Given the description of an element on the screen output the (x, y) to click on. 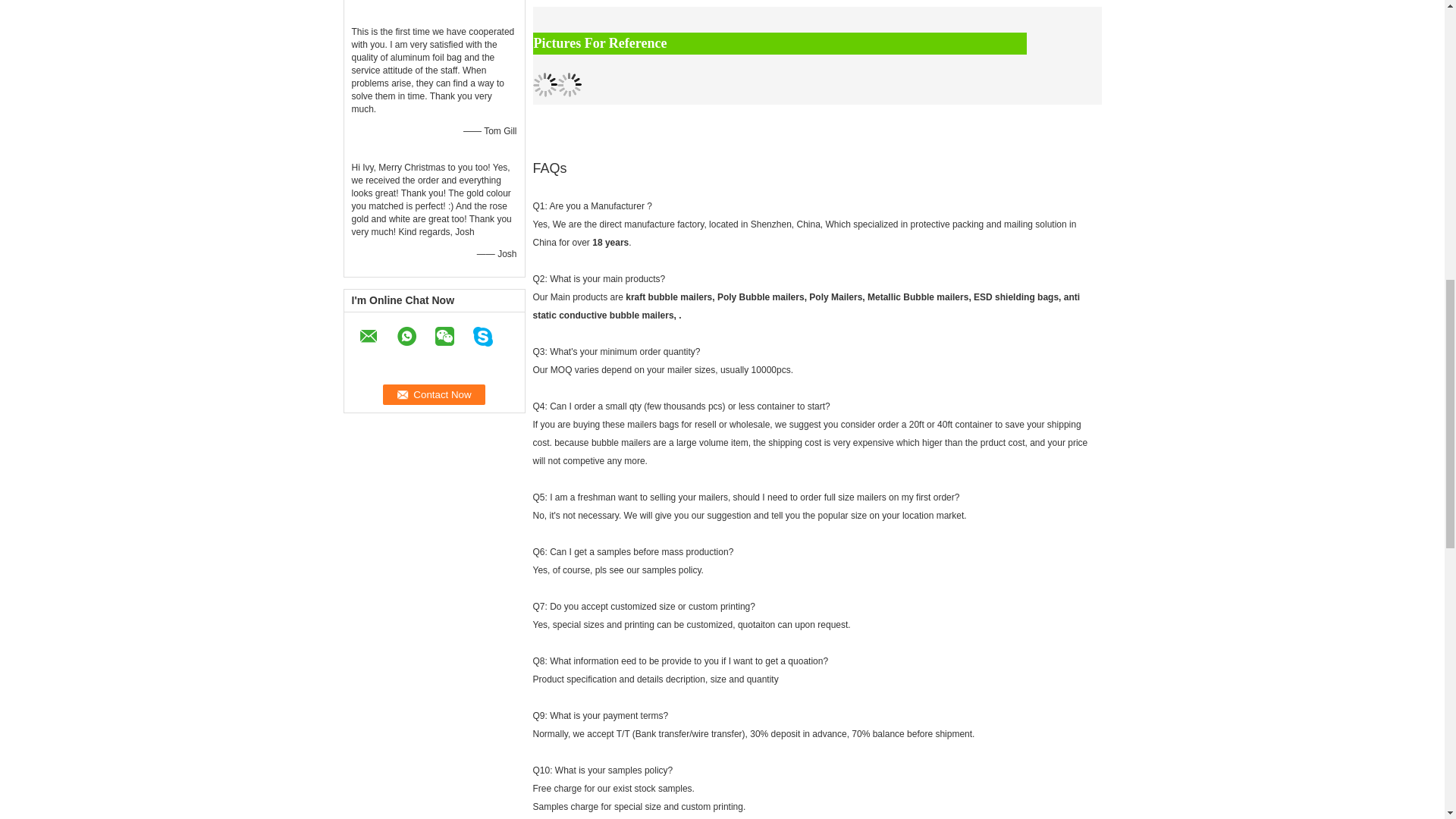
Contact Now (433, 394)
